Given the description of an element on the screen output the (x, y) to click on. 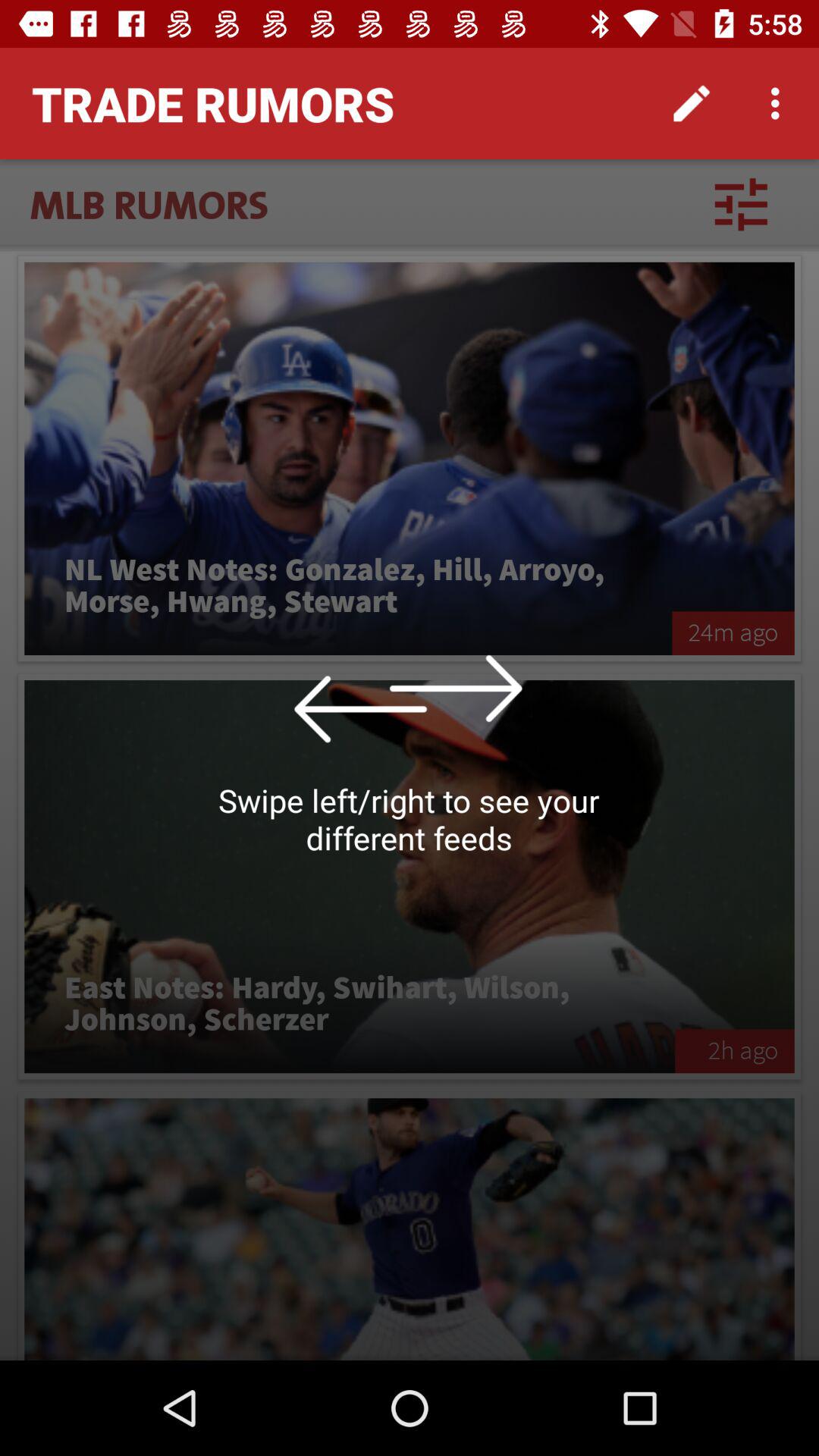
click the item next to the mlb rumors icon (740, 204)
